Given the description of an element on the screen output the (x, y) to click on. 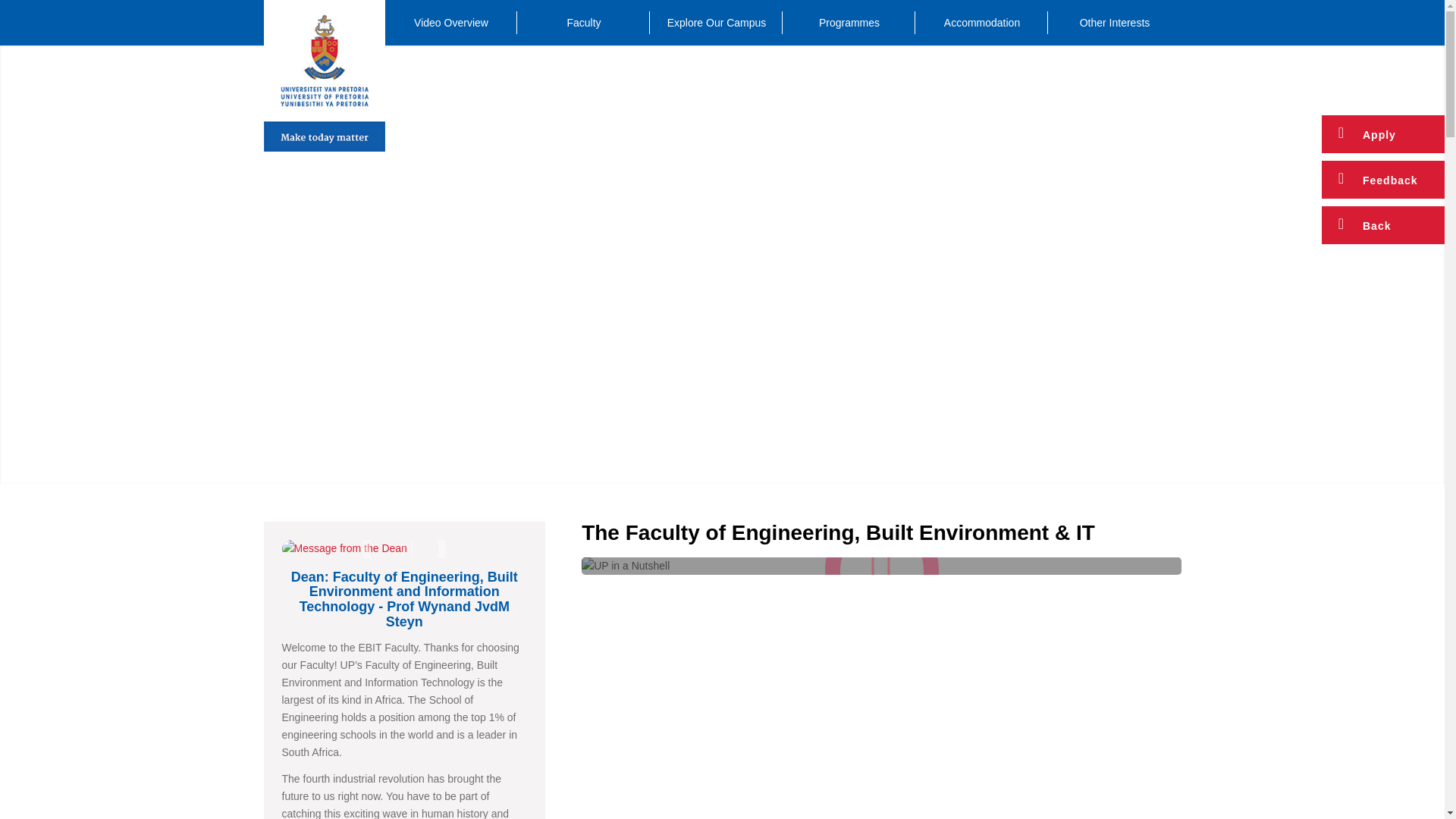
Programmes (849, 22)
Explore Our Campus (716, 22)
Accommodation (981, 22)
Video Overview (451, 22)
Faculty (582, 22)
Other Interests (1114, 22)
